Given the description of an element on the screen output the (x, y) to click on. 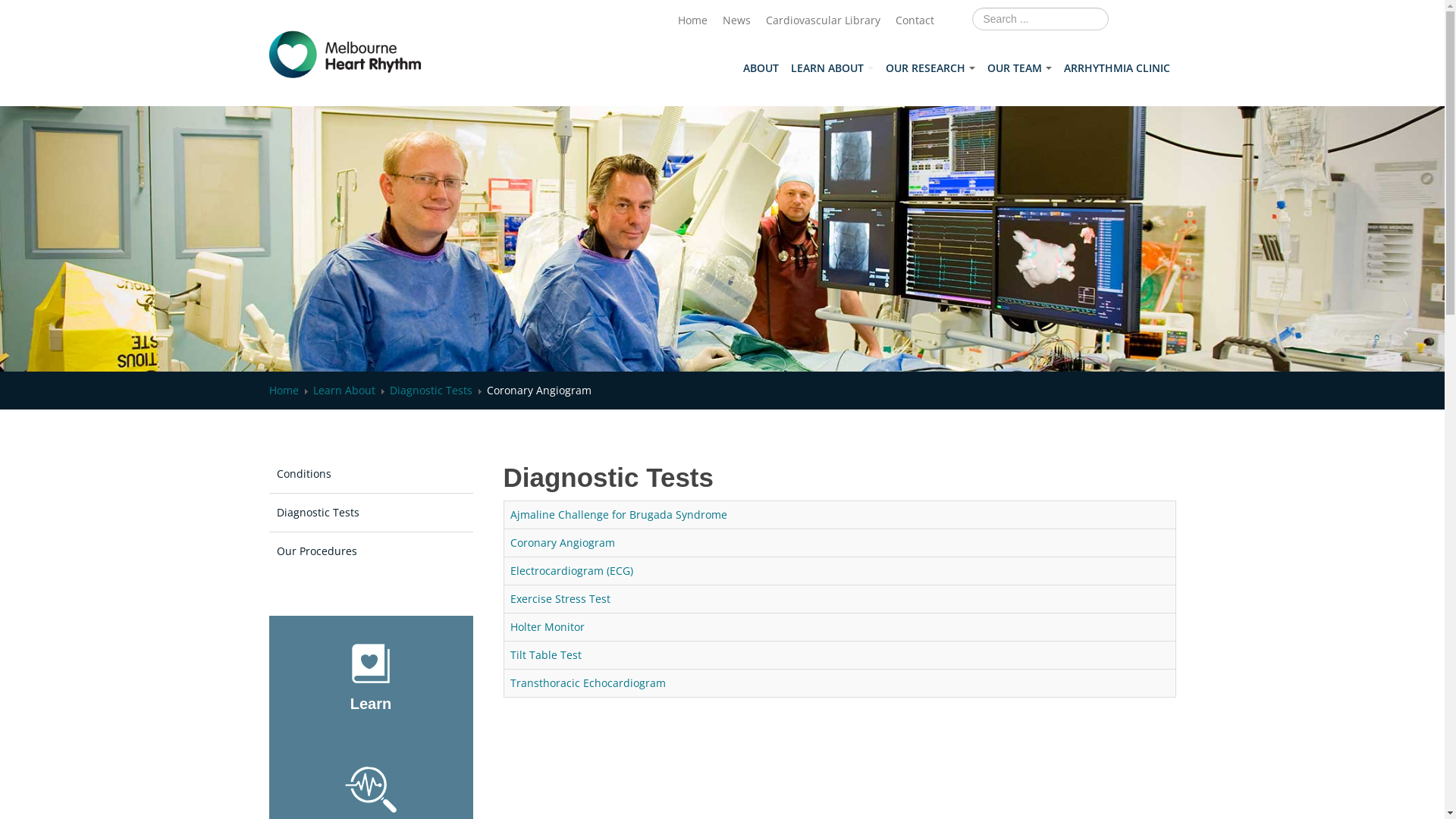
Melbourne Hearth Rhythm Element type: hover (345, 54)
OUR TEAM Element type: text (1019, 68)
News Element type: text (735, 20)
Learn About Element type: text (343, 389)
ARRHYTHMIA CLINIC Element type: text (1116, 68)
Our Procedures Element type: text (370, 550)
Conditions Element type: text (370, 473)
Home Element type: text (692, 20)
Transthoracic Echocardiogram Element type: text (587, 682)
Ajmaline Challenge for Brugada Syndrome Element type: text (617, 514)
Holter Monitor Element type: text (546, 626)
Home Element type: text (283, 389)
Exercise Stress Test Element type: text (559, 598)
Diagnostic Tests Element type: text (370, 512)
Cardiovascular Library Element type: text (822, 20)
Contact Element type: text (913, 20)
ABOUT Element type: text (760, 68)
Electrocardiogram (ECG) Element type: text (570, 570)
Diagnostic Tests Element type: text (430, 389)
Tilt Table Test Element type: text (544, 654)
LEARN ABOUT Element type: text (831, 68)
Learn Element type: text (370, 703)
OUR RESEARCH Element type: text (930, 68)
Coronary Angiogram Element type: text (561, 542)
